Given the description of an element on the screen output the (x, y) to click on. 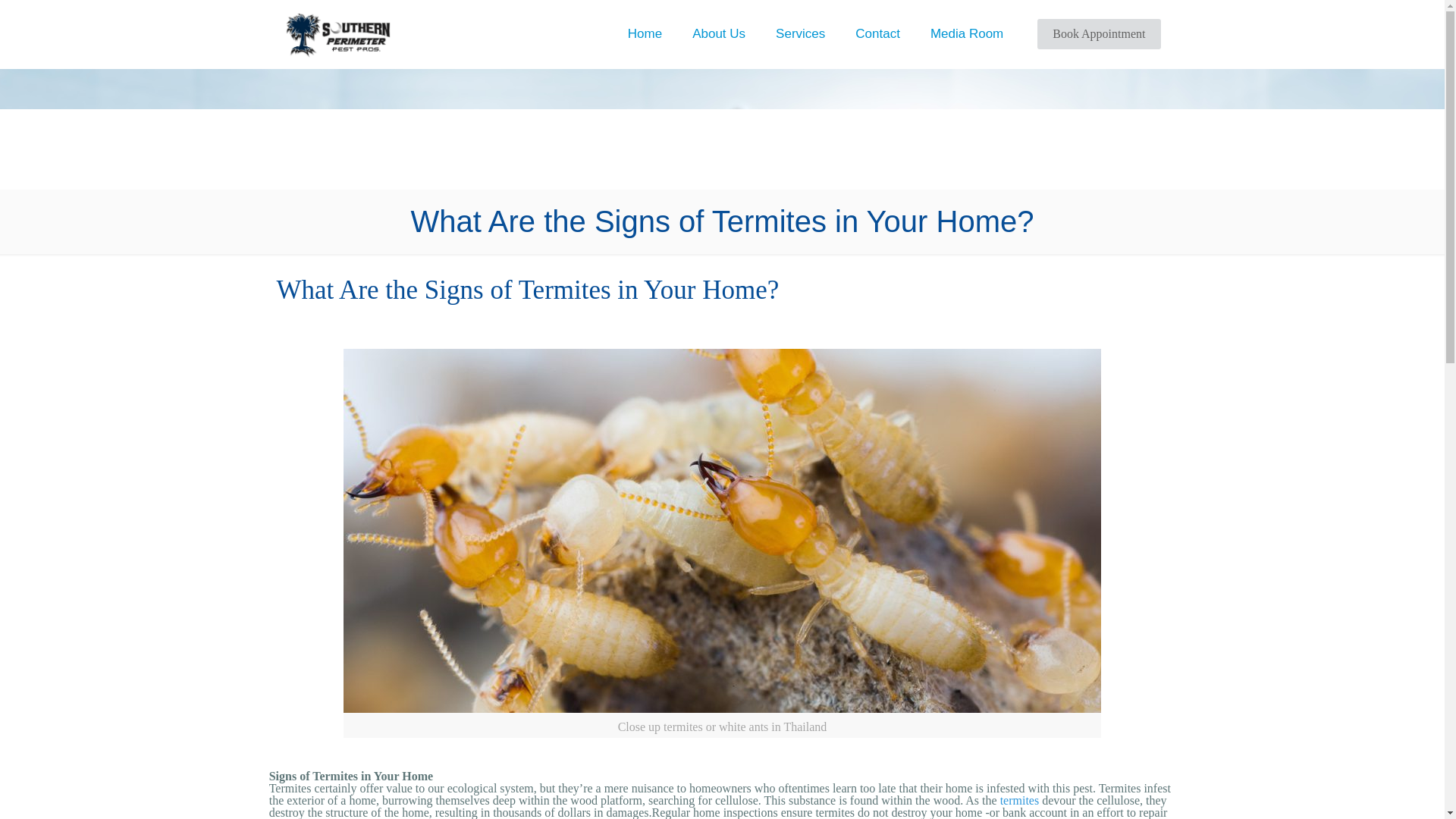
Contact (877, 33)
Services (800, 33)
termites (1019, 799)
About Us (718, 33)
Book Appointment (1098, 33)
Southern Perimeter (337, 33)
Home (644, 33)
Media Room (966, 33)
